Given the description of an element on the screen output the (x, y) to click on. 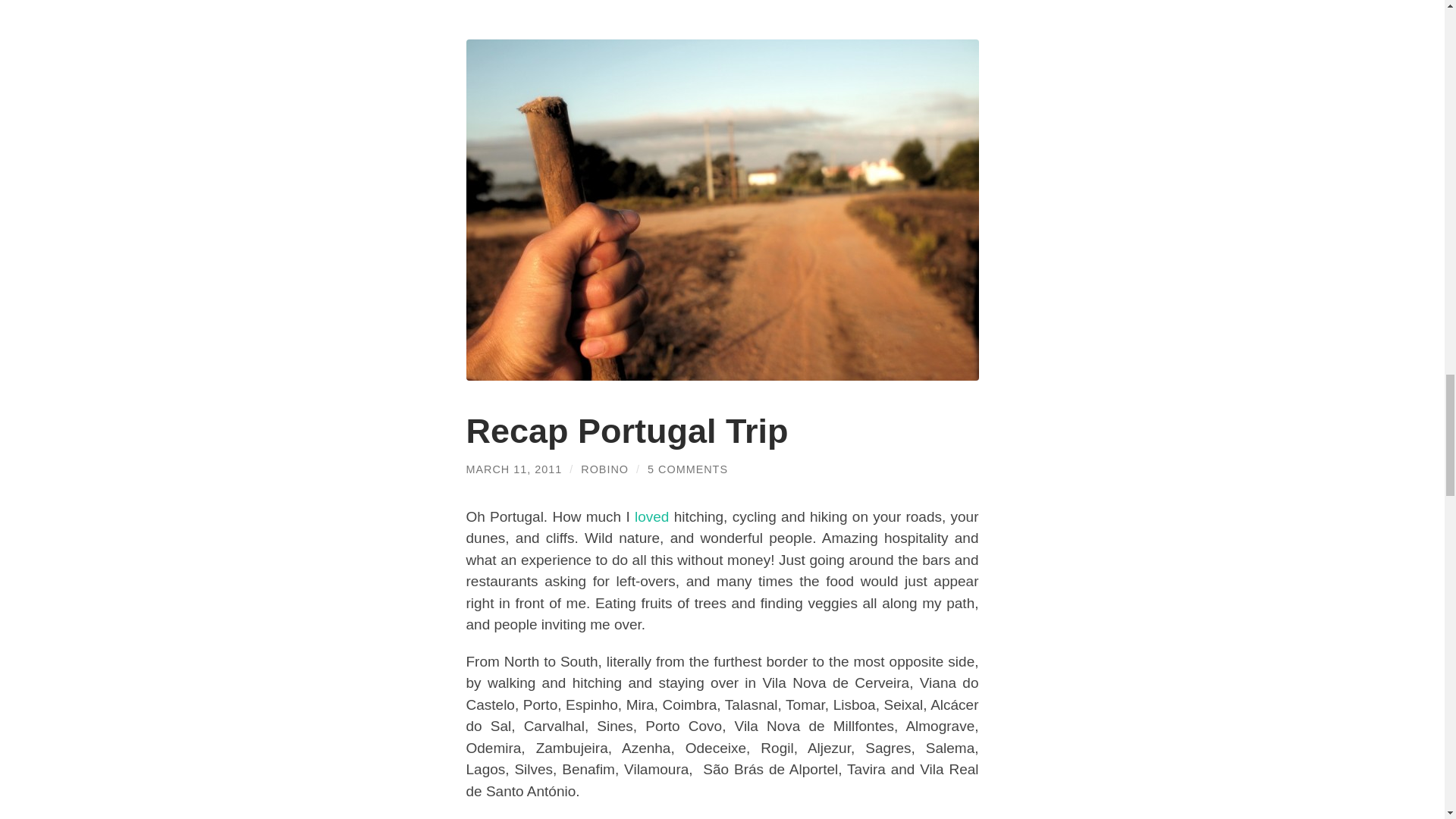
loved (651, 516)
Posts by robino (604, 469)
ROBINO (604, 469)
5 COMMENTS (687, 469)
MARCH 11, 2011 (513, 469)
Recap Portugal Trip (626, 430)
